Given the description of an element on the screen output the (x, y) to click on. 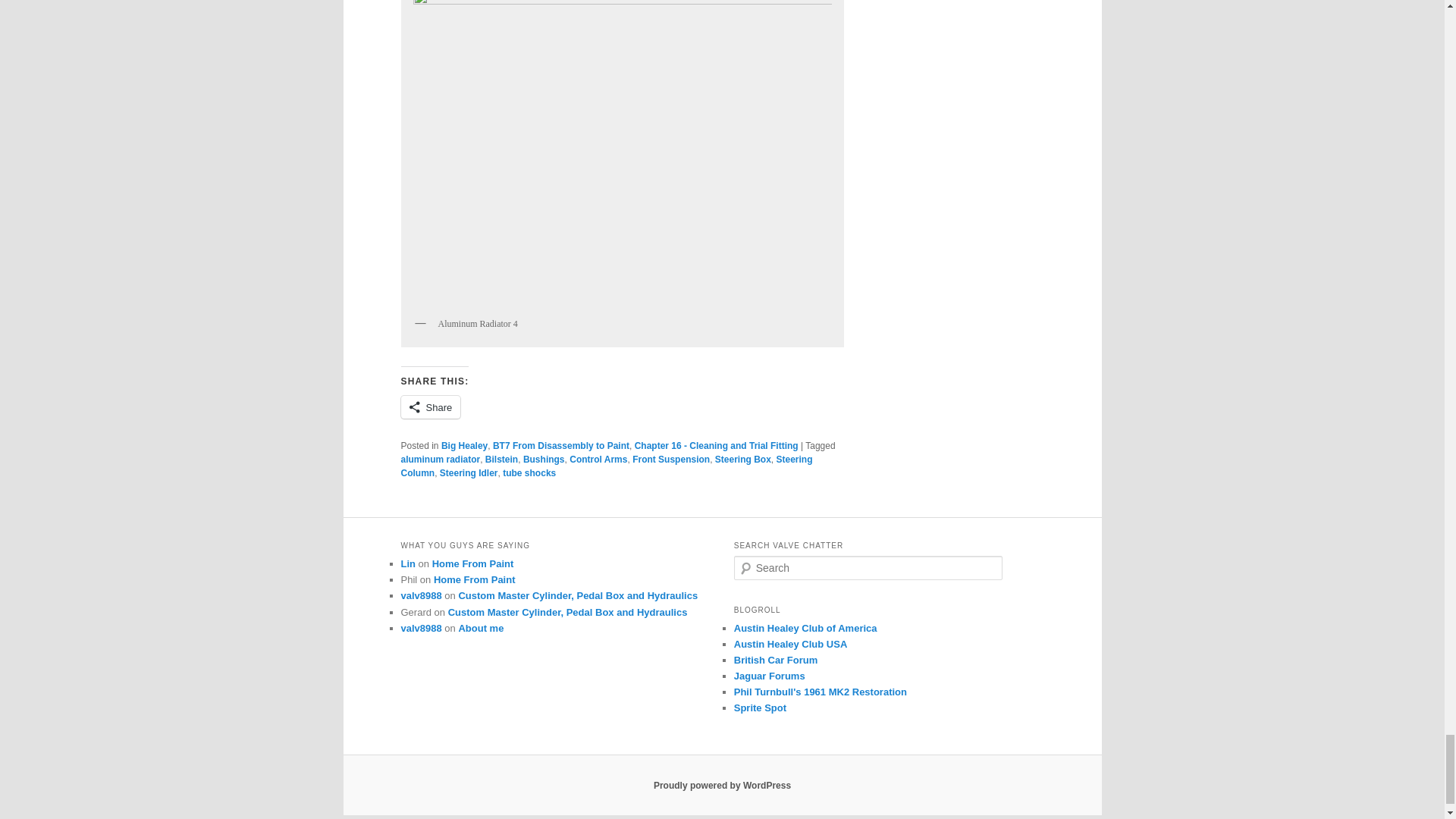
The Austin Healey Club USA  (790, 644)
 Welcome to the Austin-Healey Club of America  (805, 627)
A Forum for all British Marques (775, 659)
